Given the description of an element on the screen output the (x, y) to click on. 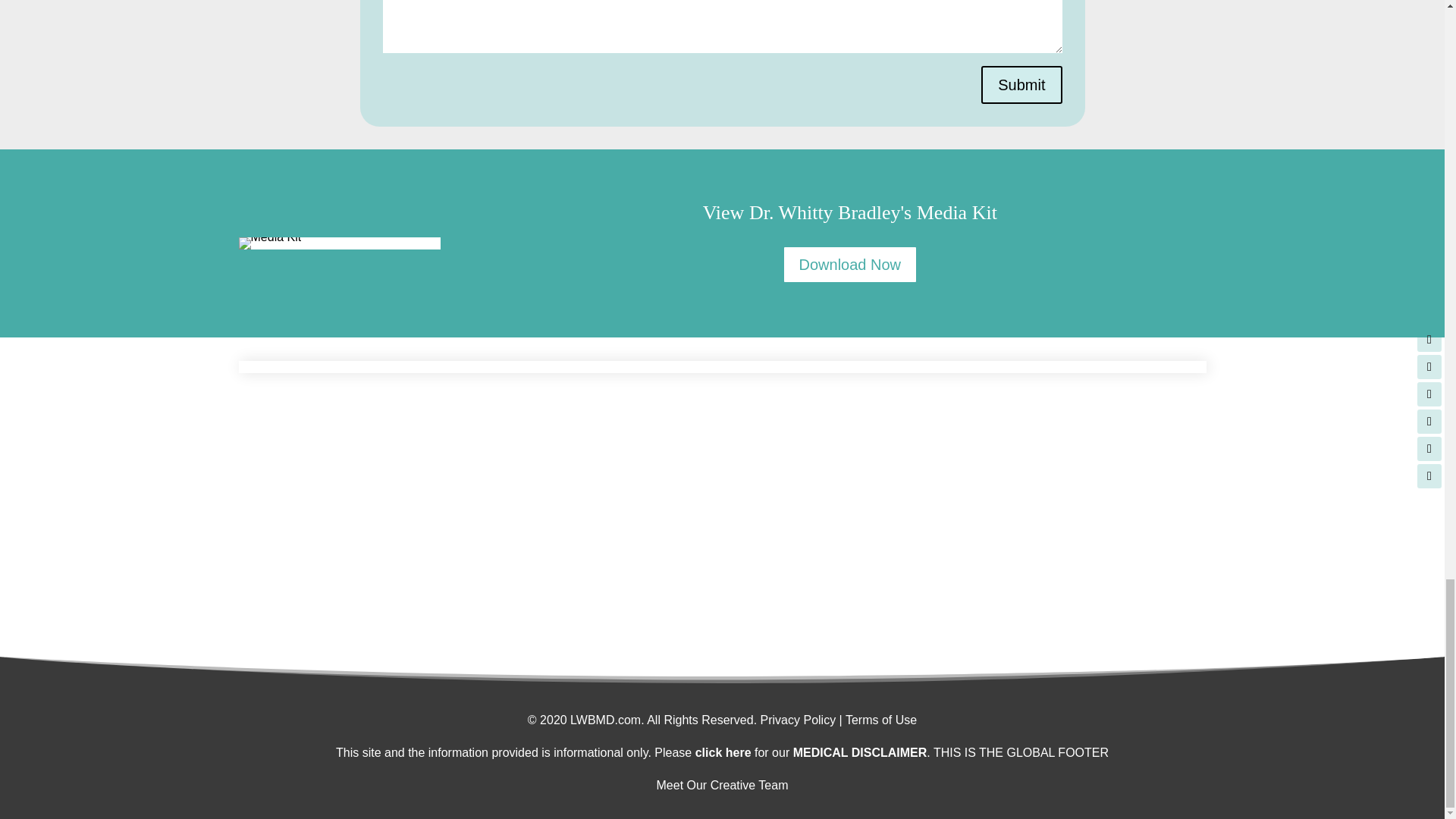
Terms of Use (881, 719)
media-kit-covers-lwb (269, 243)
click here for our MEDICAL DISCLAIMER. (812, 752)
Submit (1021, 85)
Meet Our Creative Team (722, 784)
Privacy Policy (797, 719)
Submit (1021, 85)
Download Now (850, 264)
